Given the description of an element on the screen output the (x, y) to click on. 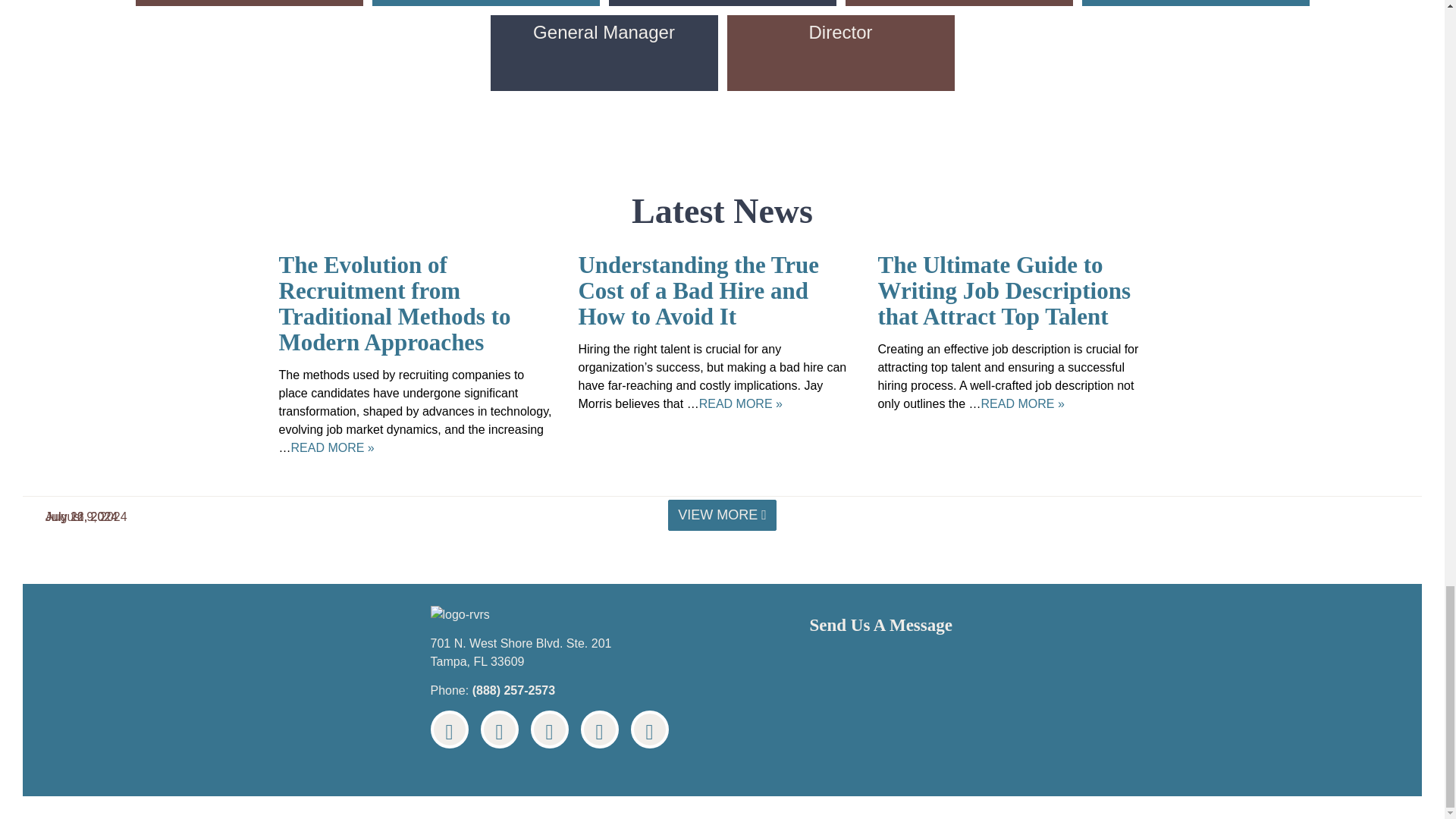
Connect with us on LinkedIn (550, 729)
Connect with us on LinkedIn (550, 729)
Follow us on Twitter (499, 729)
Like us on Facebook (449, 729)
VIEW MORE (722, 514)
Follow us on Twitter (499, 729)
Our Blog RSS Feed (649, 729)
